Given the description of an element on the screen output the (x, y) to click on. 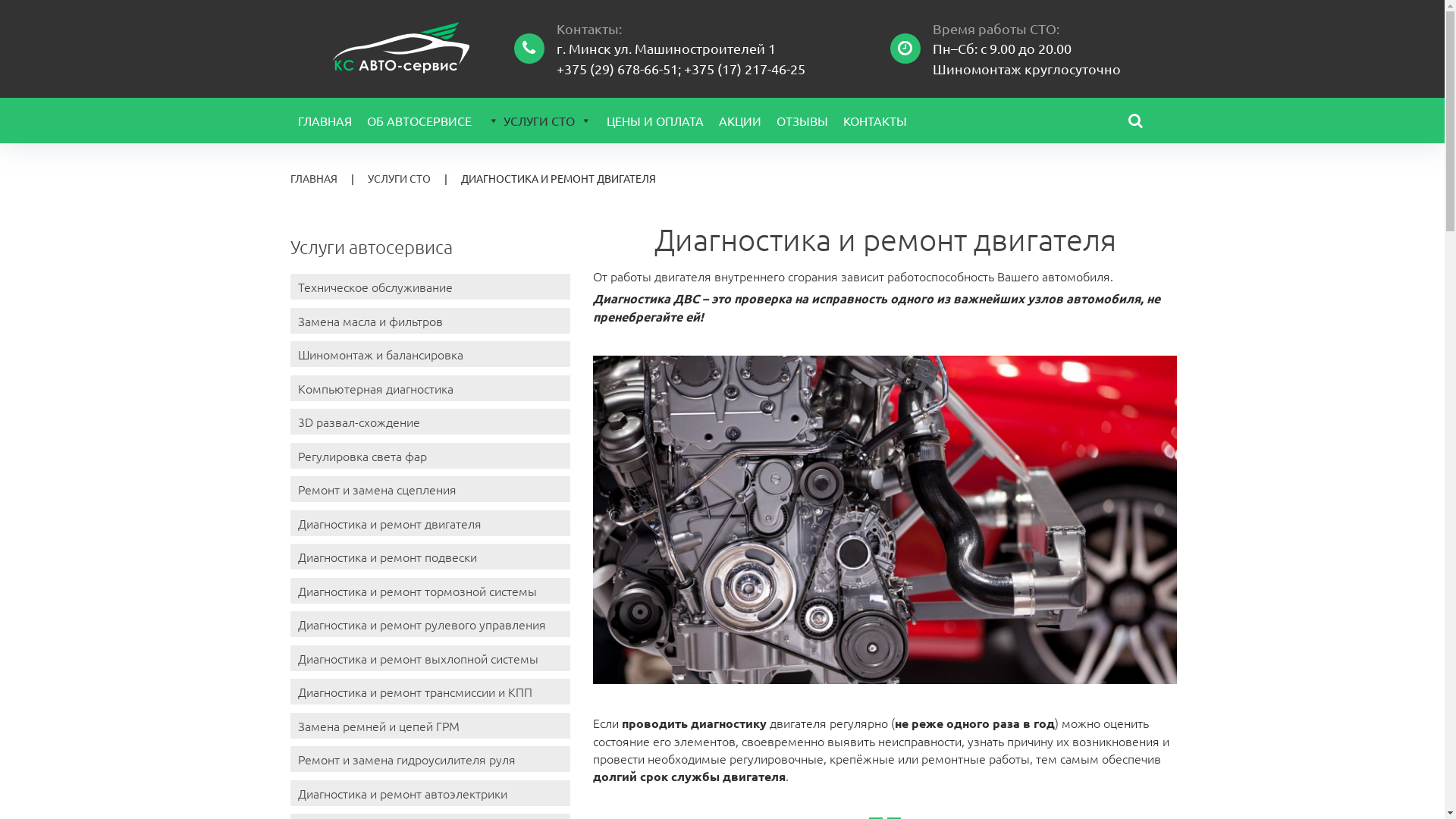
Skip to content Element type: text (0, 0)
+375 (17) 217-46-25 Element type: text (744, 68)
+375 (29) 678-66-51 Element type: text (616, 68)
